Given the description of an element on the screen output the (x, y) to click on. 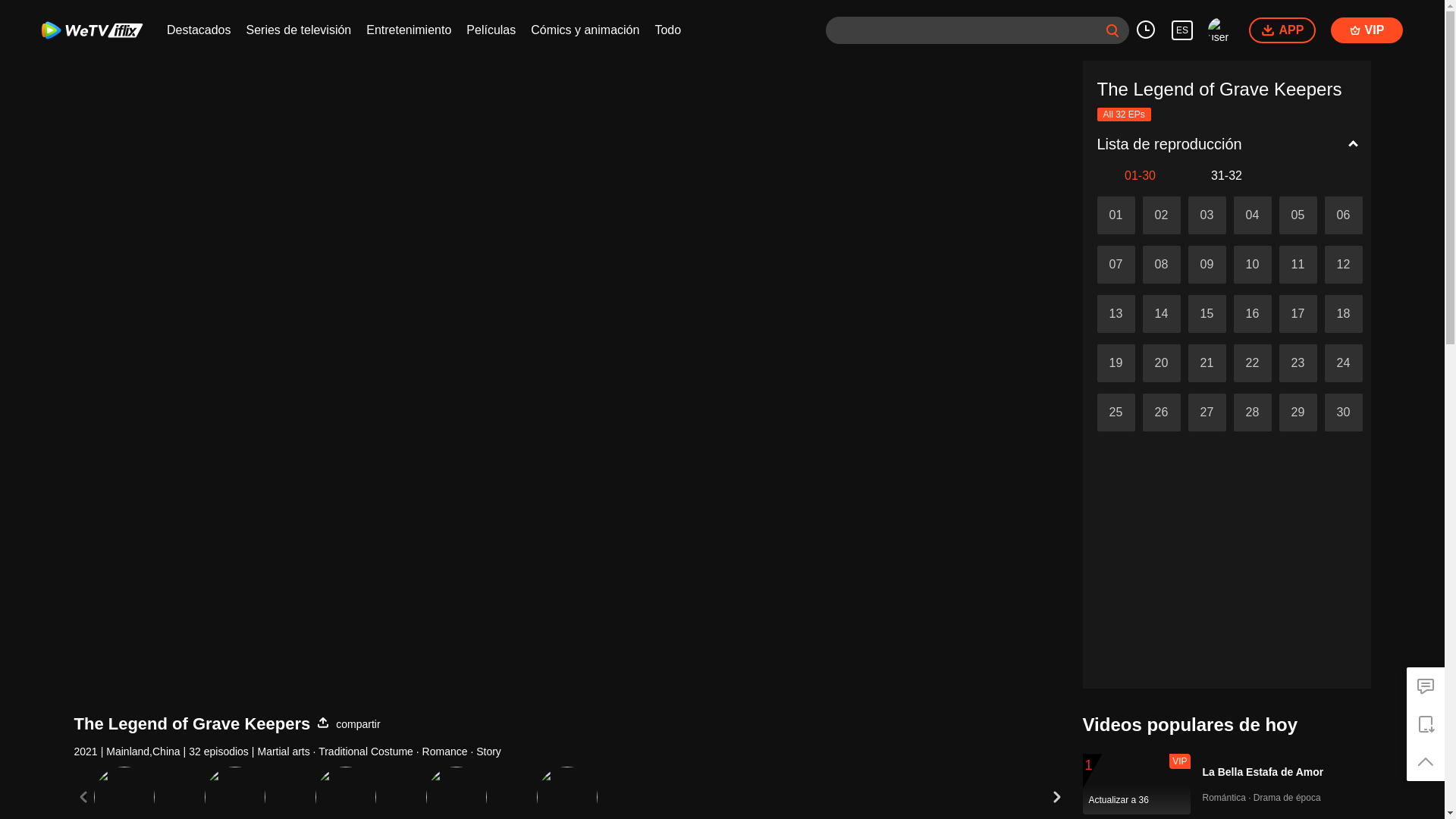
Entretenimiento (408, 30)
VIP (1366, 30)
Destacados (199, 30)
